Given the description of an element on the screen output the (x, y) to click on. 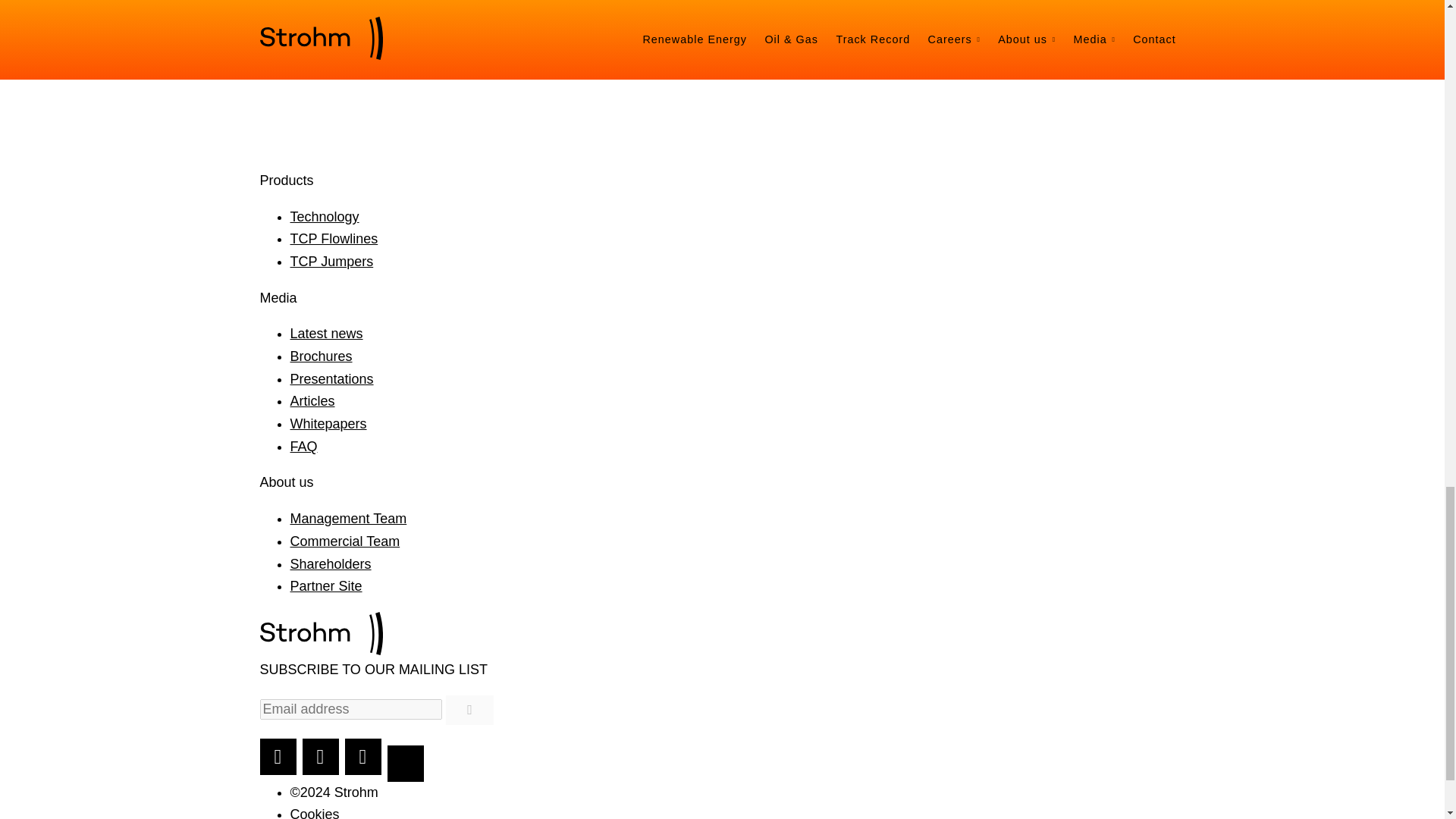
Latest news (325, 333)
Articles (311, 400)
Strohm (320, 633)
TCP Jumpers (330, 261)
Brochures (320, 355)
TCP Flowlines (333, 238)
Presentations (330, 378)
Technology (323, 216)
